Given the description of an element on the screen output the (x, y) to click on. 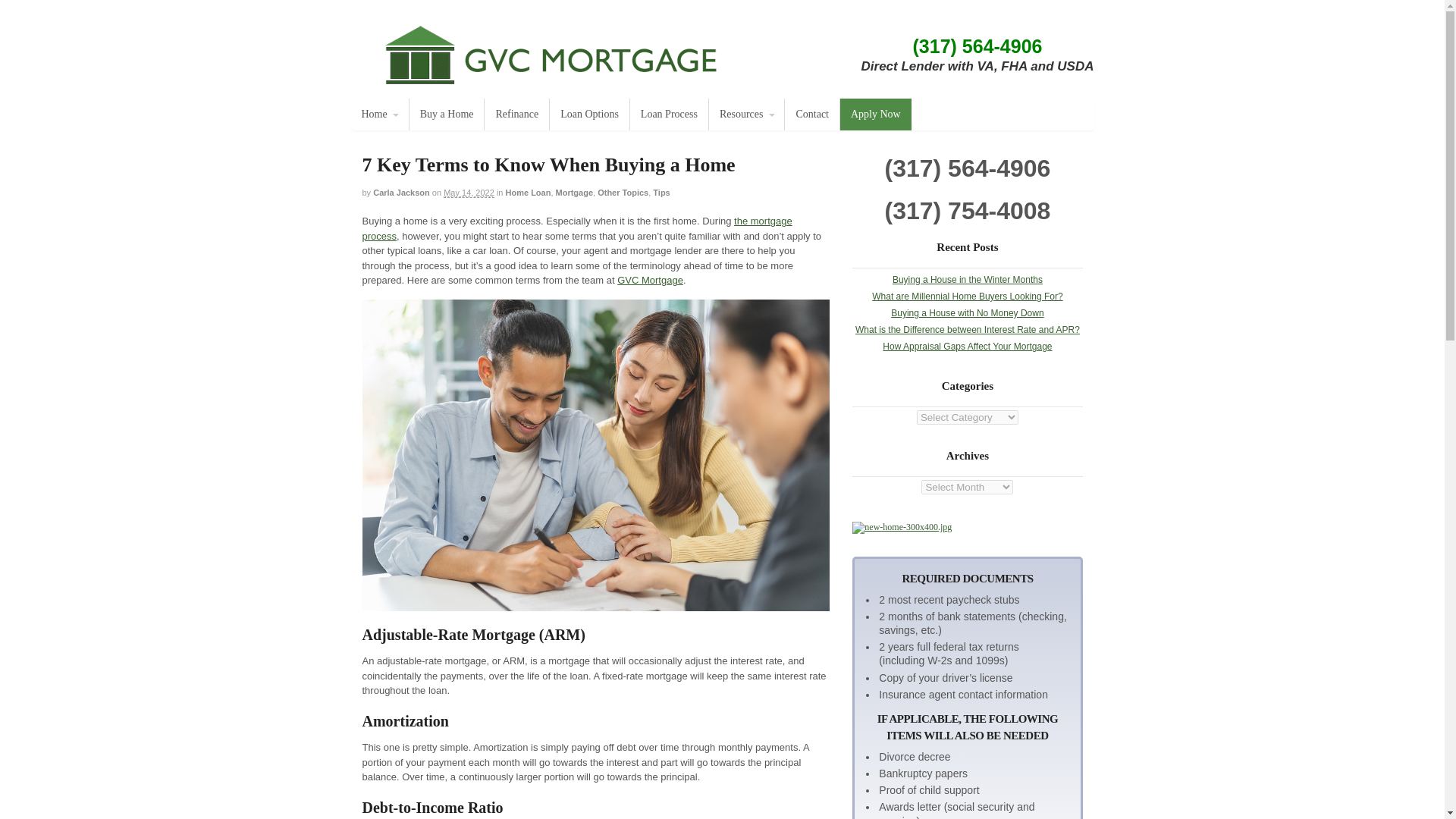
Mortgage Rates (446, 114)
Buy a Home (446, 114)
Home (378, 114)
the mortgage process (577, 228)
Refinance (516, 114)
Tips (660, 192)
Carla Jackson (400, 192)
Mortgage Options (589, 114)
Contact (812, 114)
Refinance Mortgage (516, 114)
GVC Mortgage (649, 279)
Loan Options (589, 114)
Home Loan (528, 192)
Other Topics (621, 192)
Mortgage (575, 192)
